Given the description of an element on the screen output the (x, y) to click on. 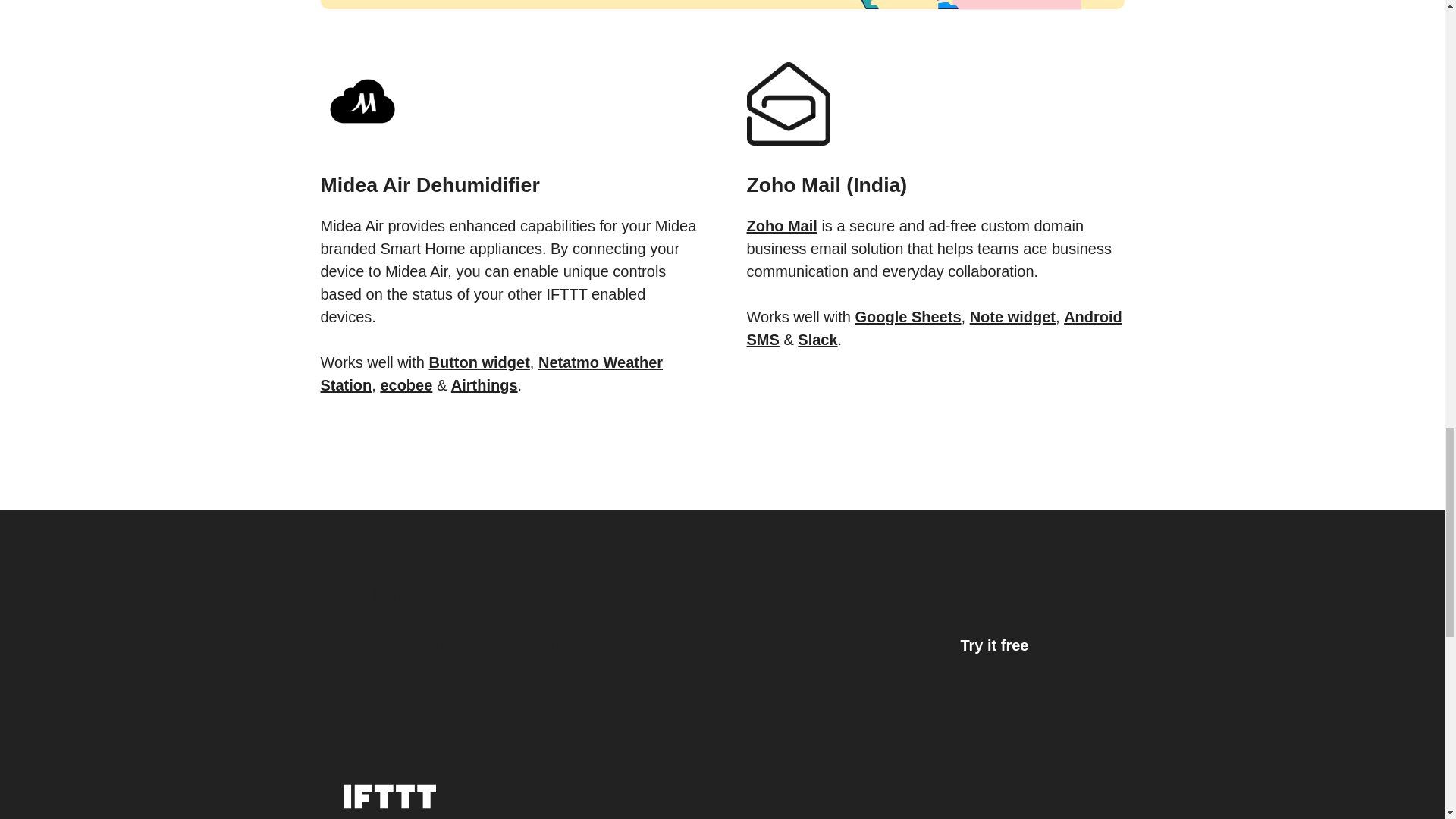
Android SMS (933, 328)
Note widget (1012, 316)
ecobee (406, 384)
Button widget (479, 362)
Zoho Mail (780, 225)
Midea Air Dehumidifier (508, 165)
Google Sheets (908, 316)
Airthings (484, 384)
Netatmo Weather Station (491, 373)
